Given the description of an element on the screen output the (x, y) to click on. 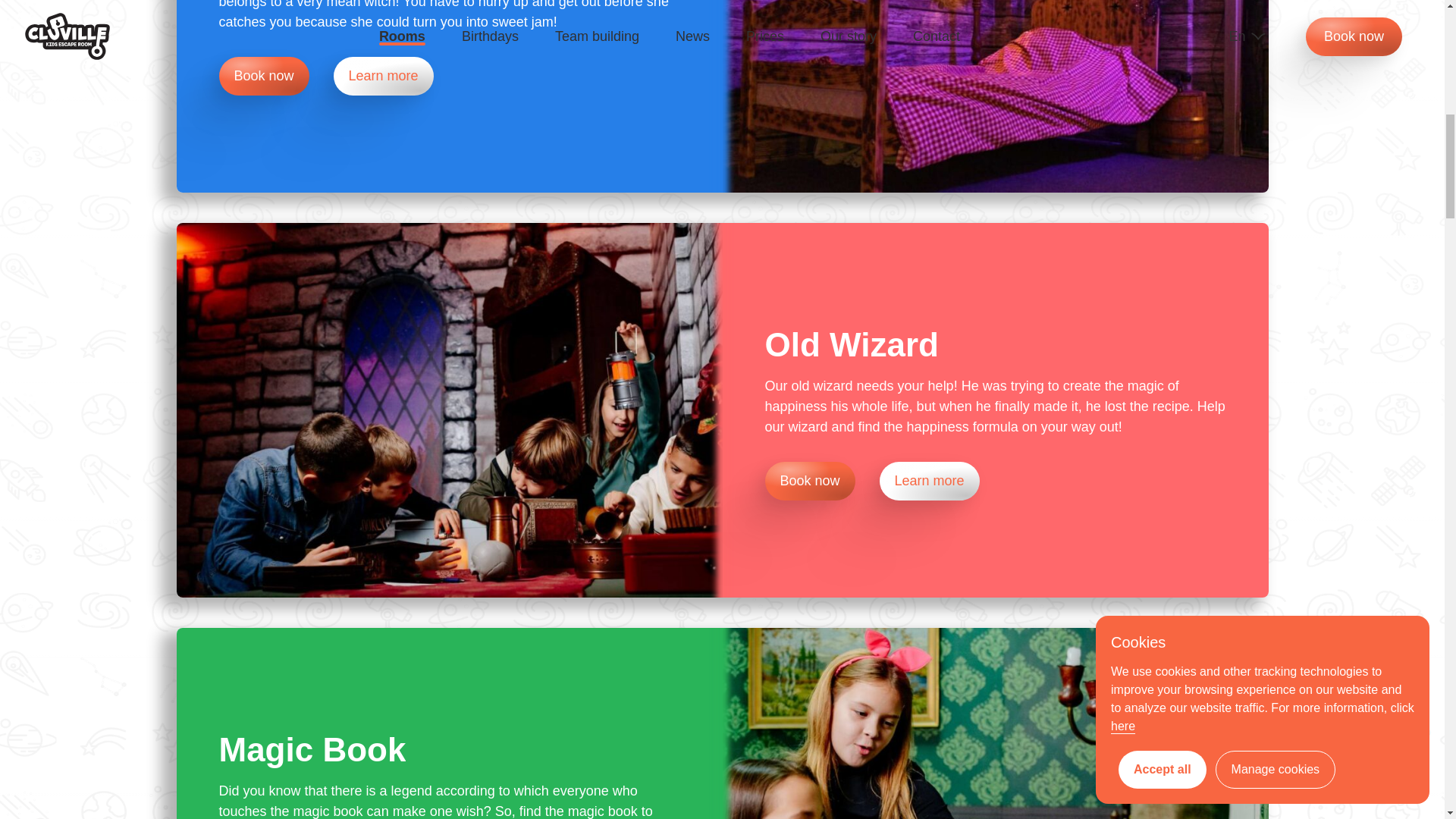
Learn more (929, 480)
Book now (275, 75)
Book now (809, 480)
Learn more (383, 75)
Book now (263, 75)
Book now (821, 480)
